Given the description of an element on the screen output the (x, y) to click on. 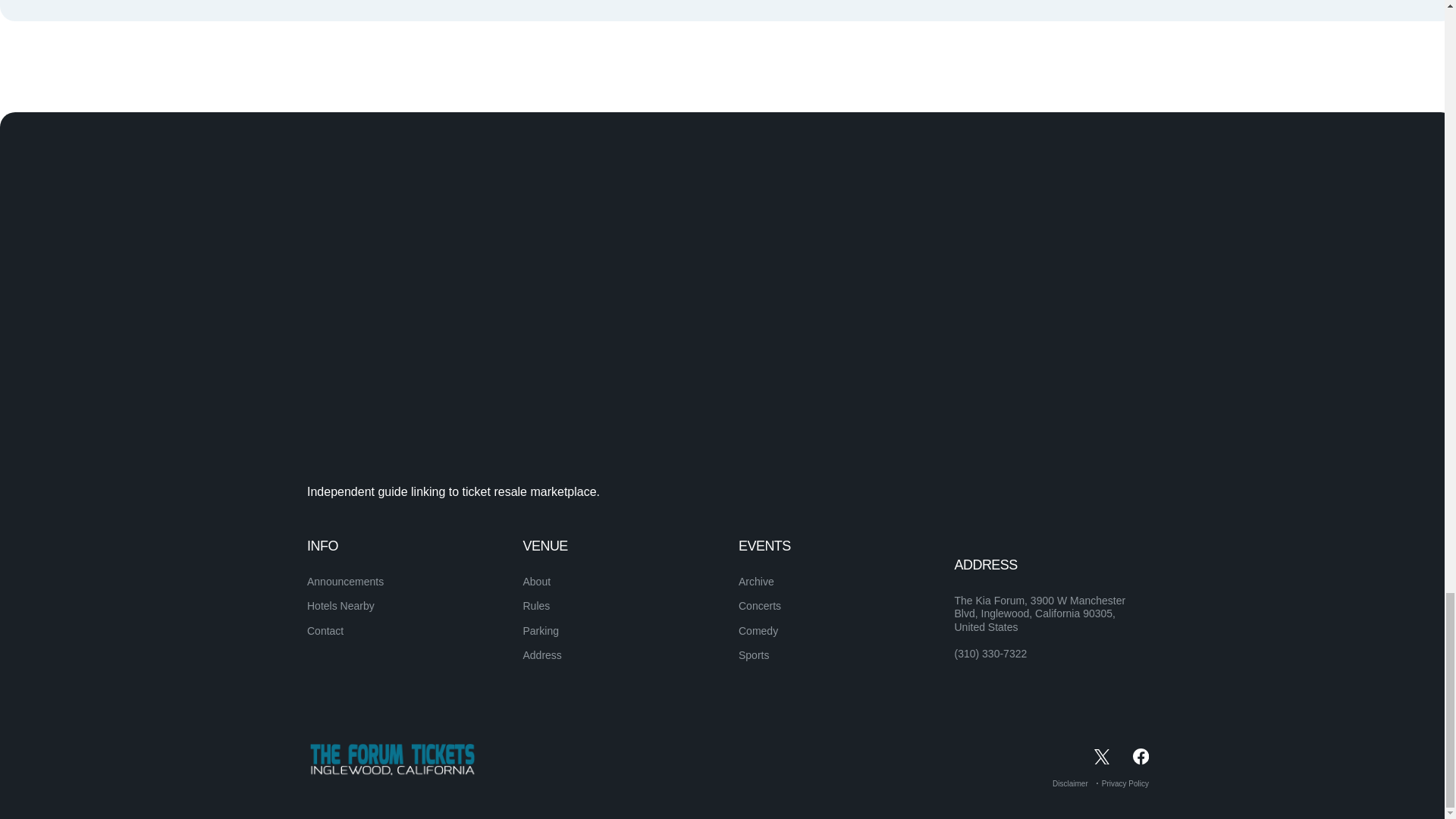
Hotels Nearby (340, 605)
SUBSCRIBE (1095, 574)
Disclaimer (1069, 783)
Parking (540, 630)
Archive (756, 581)
Comedy (757, 630)
Privacy Policy (1125, 783)
Announcements (345, 581)
Contact (325, 630)
Rules (536, 605)
Sports (753, 654)
About (536, 581)
Concerts (759, 605)
Address (542, 654)
